Given the description of an element on the screen output the (x, y) to click on. 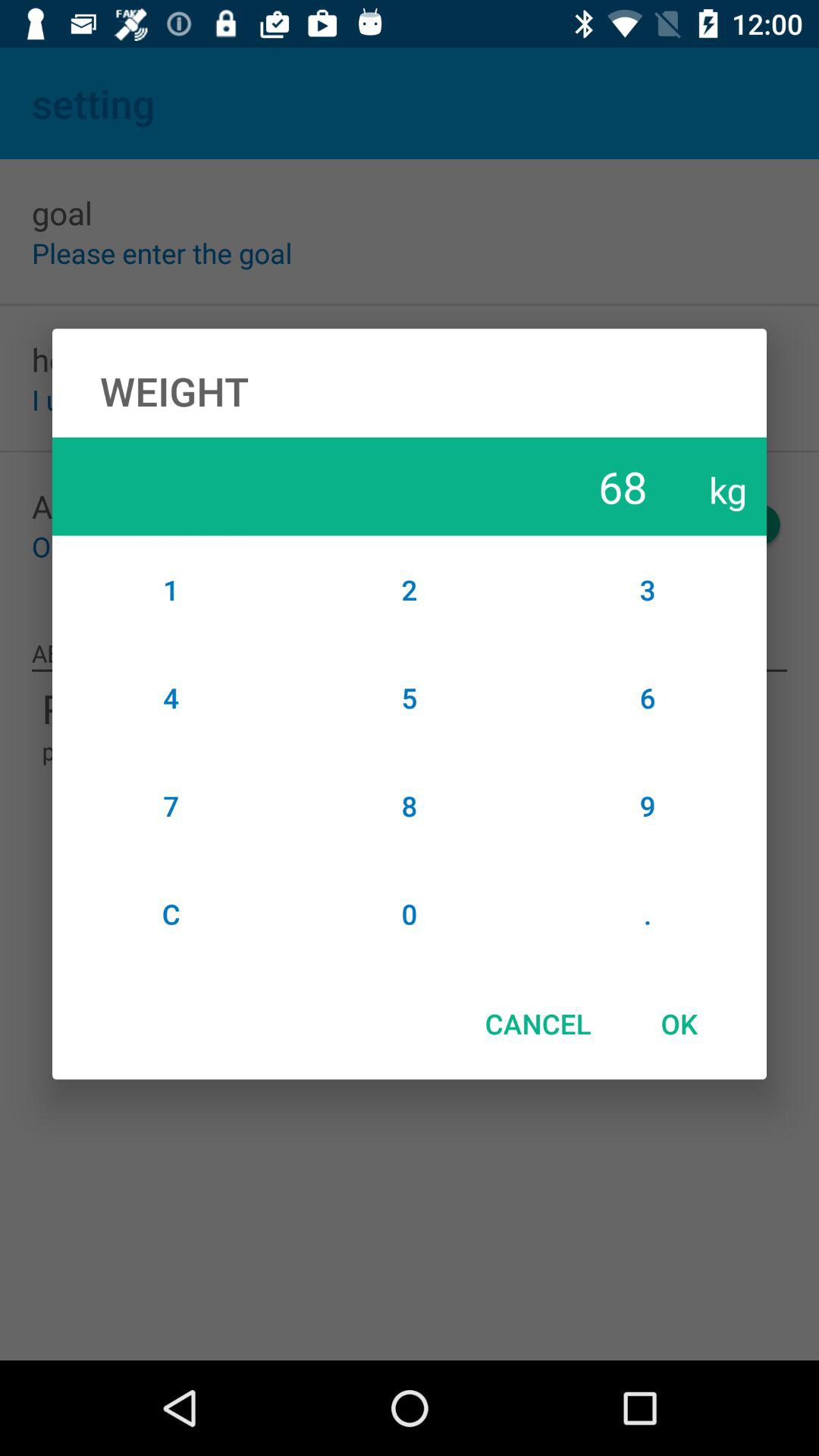
select the item next to the 4 item (409, 805)
